Given the description of an element on the screen output the (x, y) to click on. 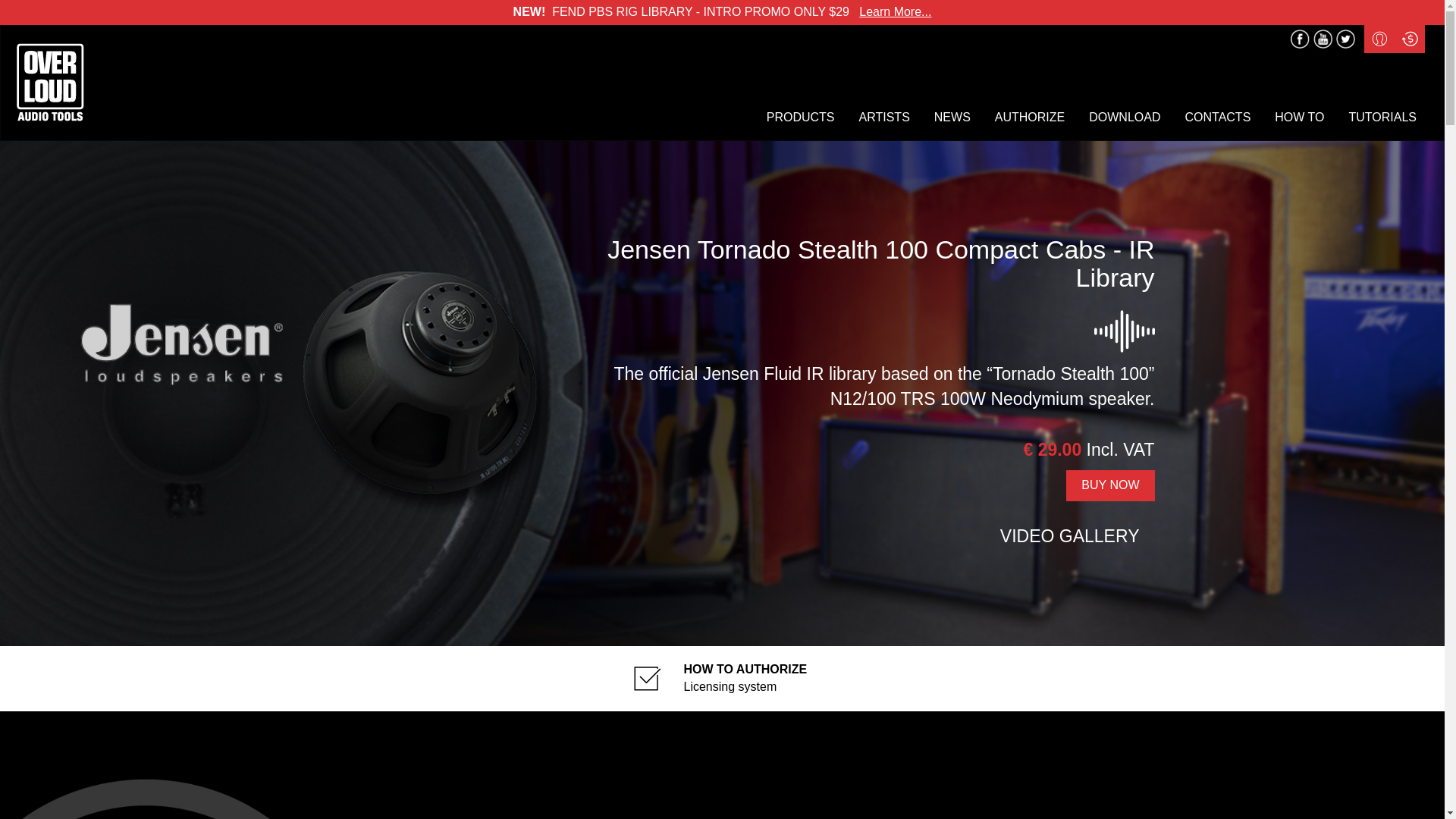
DOWNLOAD (1124, 118)
BUY NOW (1109, 485)
VIDEO GALLERY (1058, 535)
Learn More... (895, 11)
PRODUCTS (800, 118)
AUTHORIZE (1029, 118)
TUTORIALS (1382, 118)
ARTISTS (884, 118)
